Given the description of an element on the screen output the (x, y) to click on. 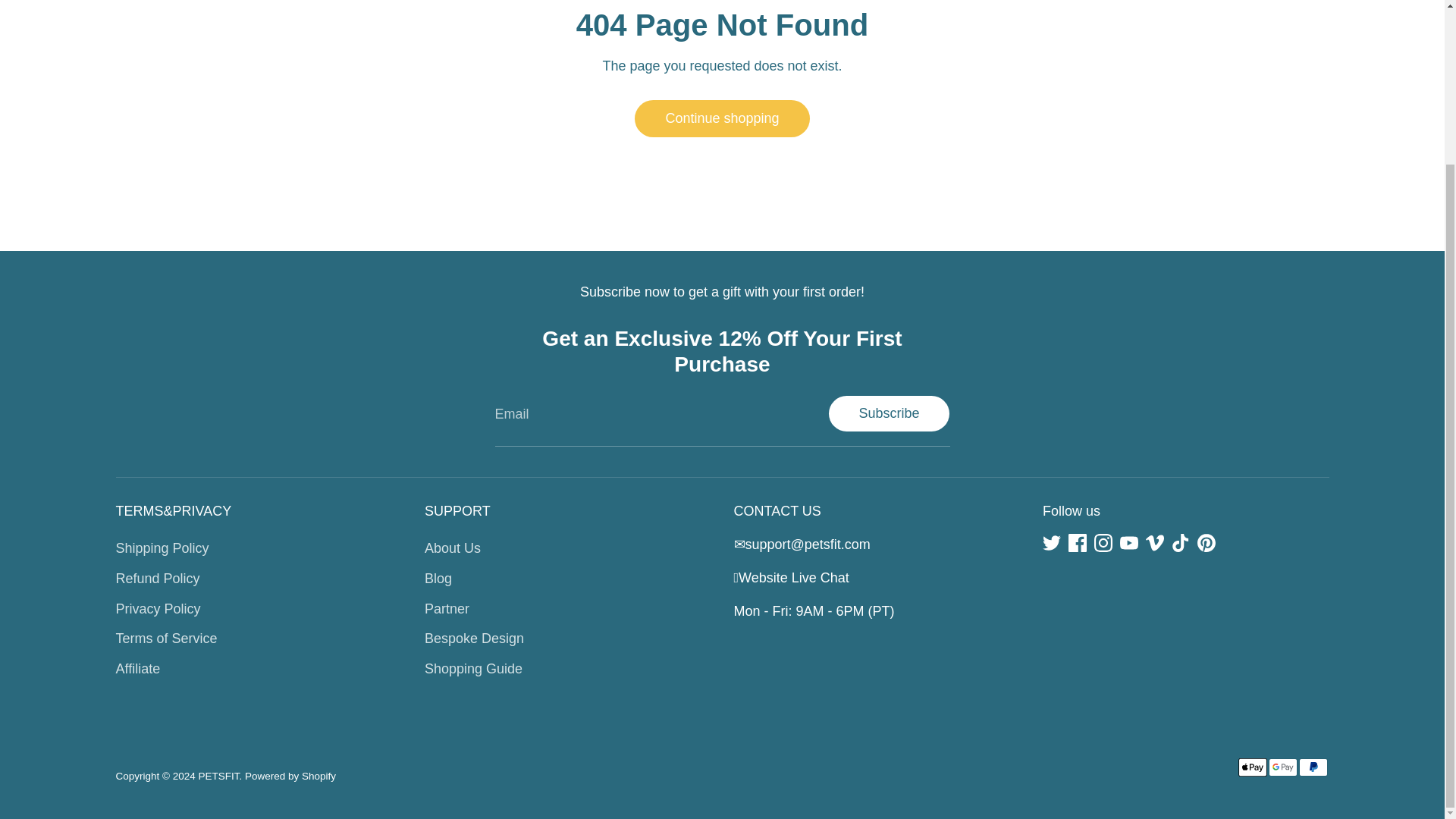
Google Pay (1282, 767)
Apple Pay (1251, 767)
PayPal (1312, 767)
